Given the description of an element on the screen output the (x, y) to click on. 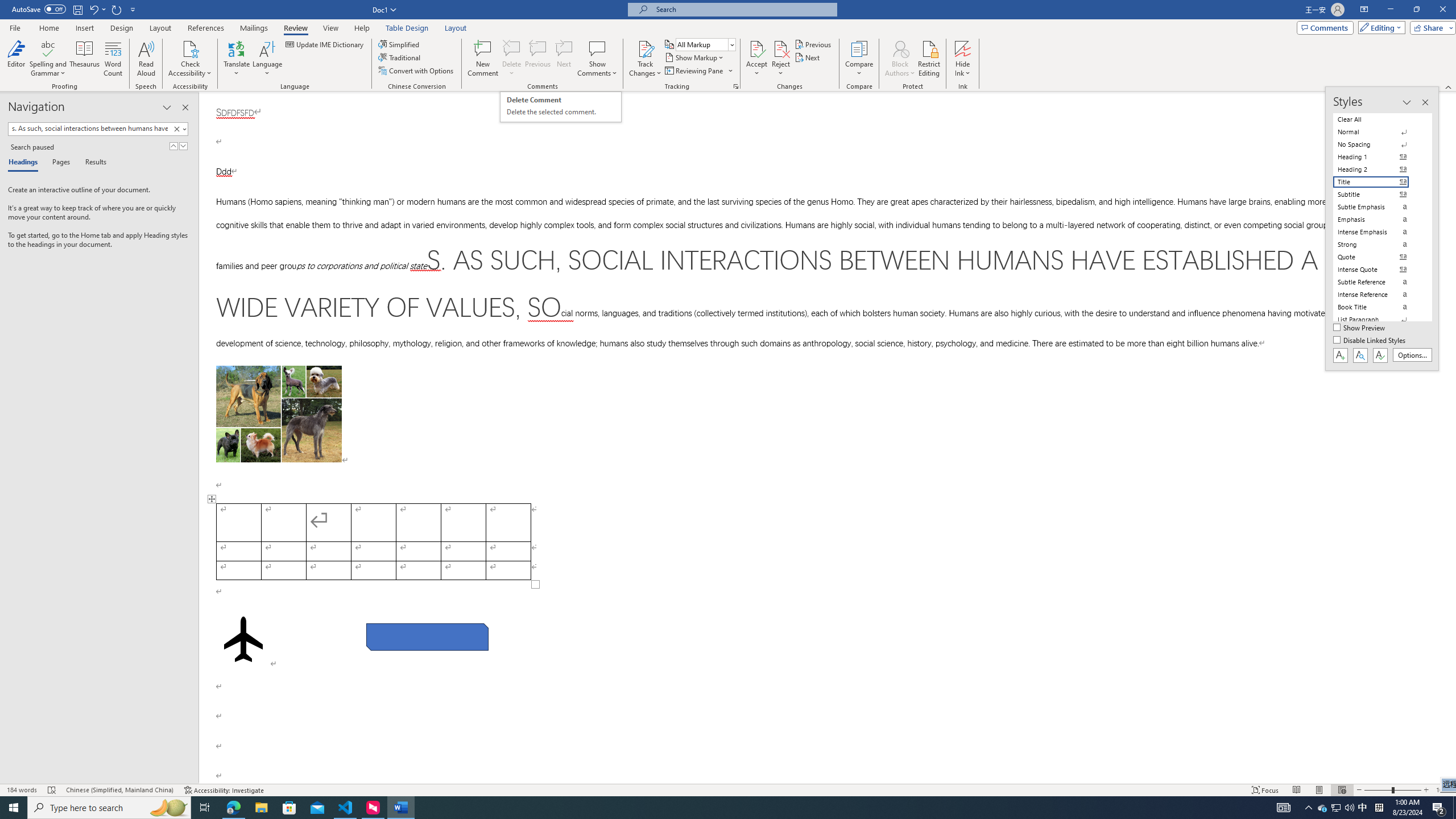
Block Authors (900, 58)
Update IME Dictionary... (324, 44)
List Paragraph (1377, 319)
Accessibility Checker Accessibility: Investigate (224, 790)
Reject (780, 58)
Read Aloud (145, 58)
Hide Ink (962, 48)
Reviewing Pane (694, 69)
Simplified (400, 44)
Class: NetUIScrollBar (1450, 437)
Word Count 184 words (22, 790)
